Given the description of an element on the screen output the (x, y) to click on. 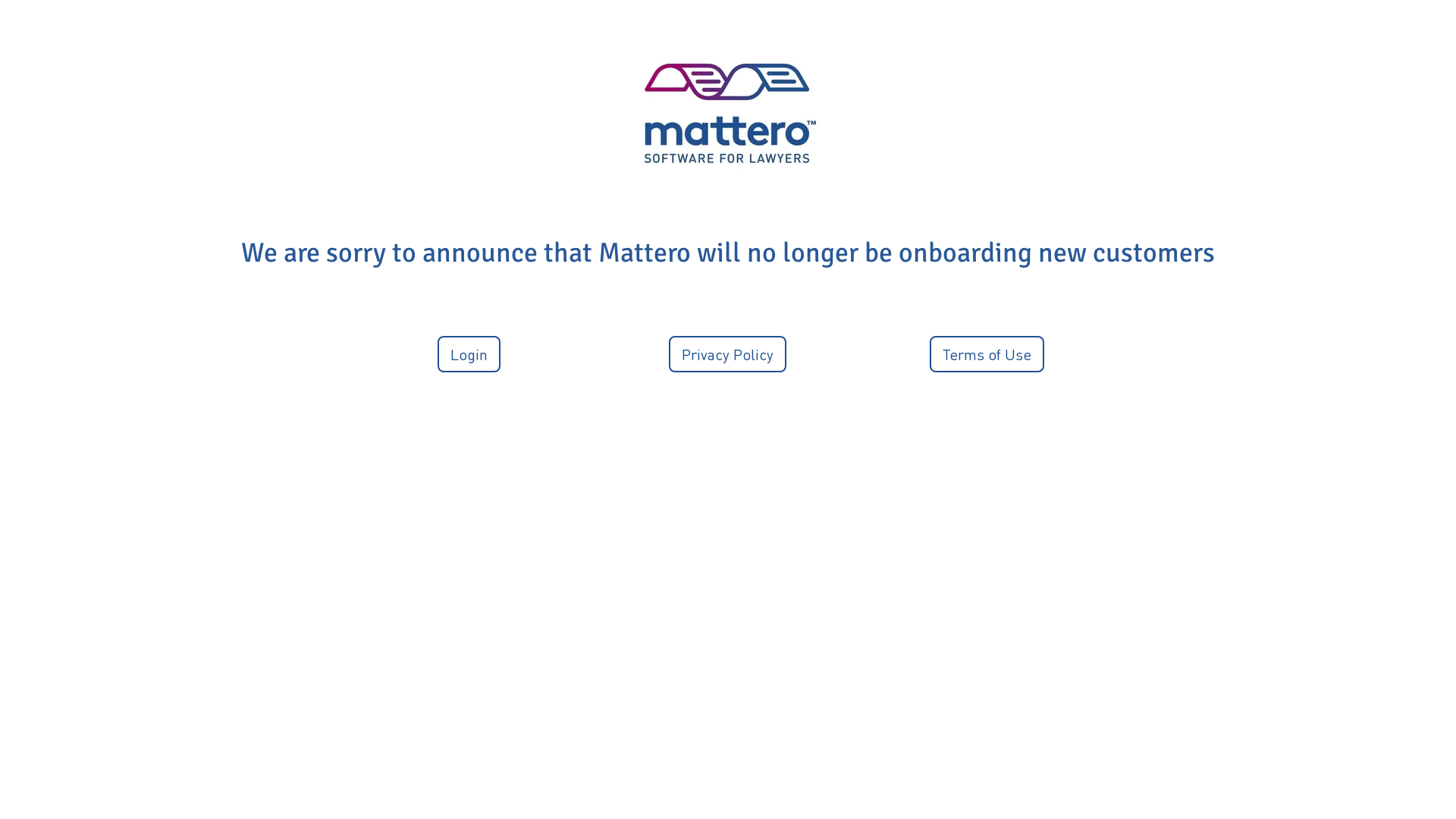
Login Element type: text (468, 354)
Privacy Policy Element type: text (727, 354)
Terms of Use Element type: text (986, 354)
Mattero Logo Element type: hover (727, 113)
